Given the description of an element on the screen output the (x, y) to click on. 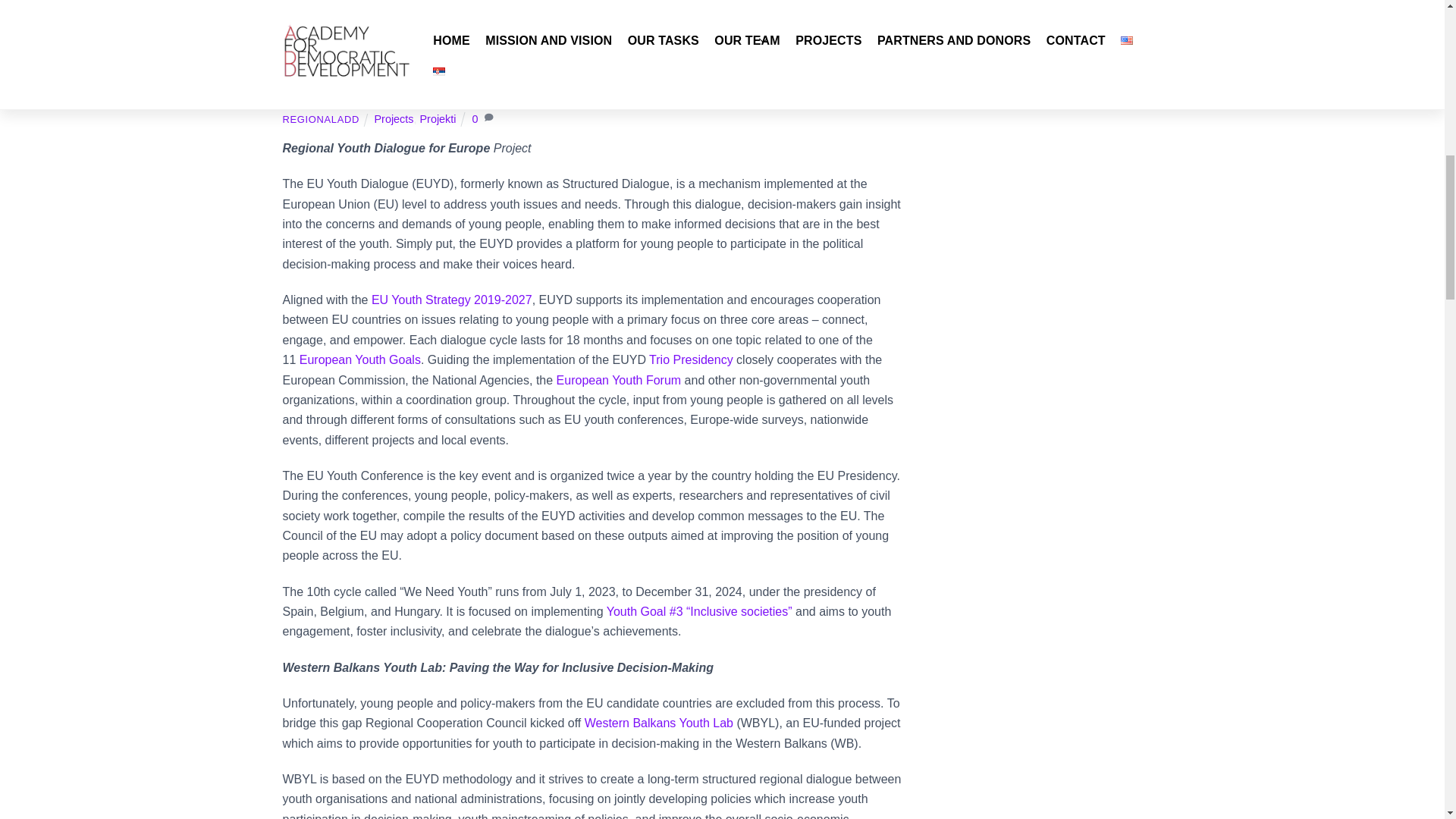
REGIONALADD (320, 119)
European Youth Goals (359, 359)
EU Youth Strategy 2019-2027 (451, 299)
Projekti (438, 119)
Trio Presidency (691, 359)
Western Balkans Youth Lab (659, 722)
Projects (393, 119)
European Youth Forum (618, 379)
